Given the description of an element on the screen output the (x, y) to click on. 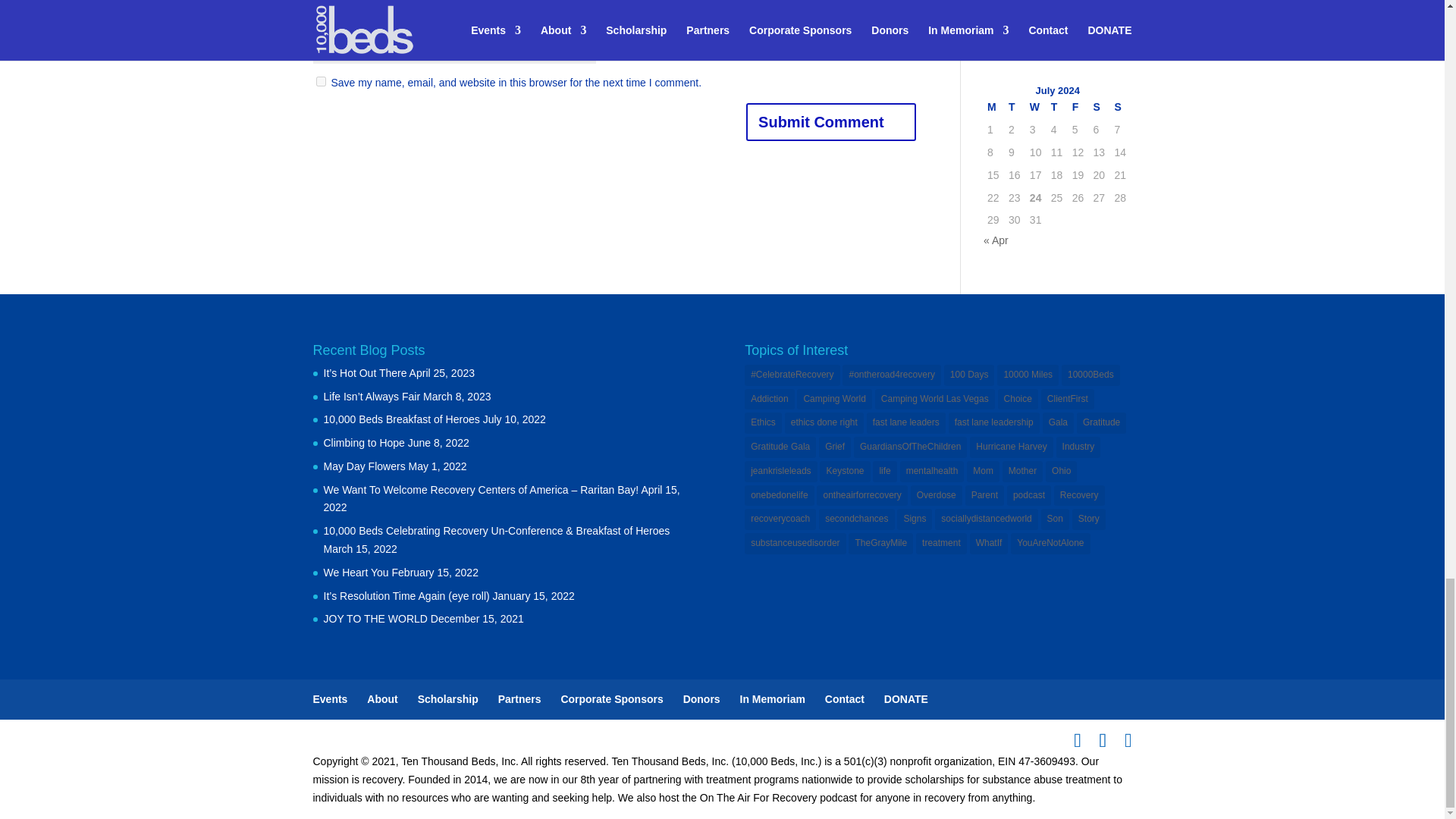
Thursday (1057, 107)
Wednesday (1036, 107)
Monday (994, 107)
Friday (1078, 107)
Saturday (1099, 107)
Sunday (1120, 107)
Tuesday (1015, 107)
Submit Comment (830, 121)
yes (319, 81)
